Given the description of an element on the screen output the (x, y) to click on. 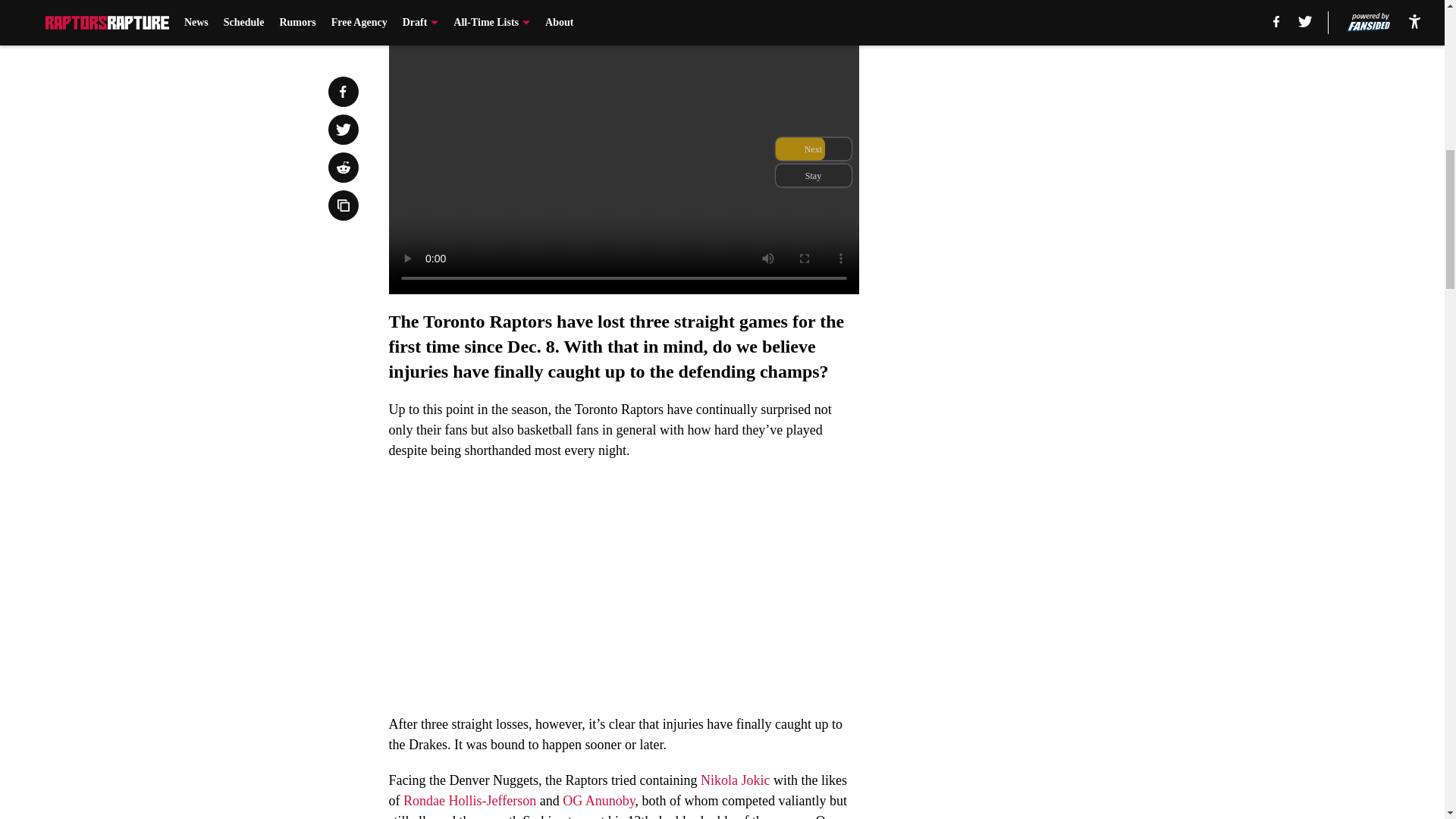
3rd party ad content (1047, 344)
3rd party ad content (1047, 125)
OG Anunoby (598, 800)
Nikola Jokic (735, 780)
Rondae Hollis-Jefferson (469, 800)
